Given the description of an element on the screen output the (x, y) to click on. 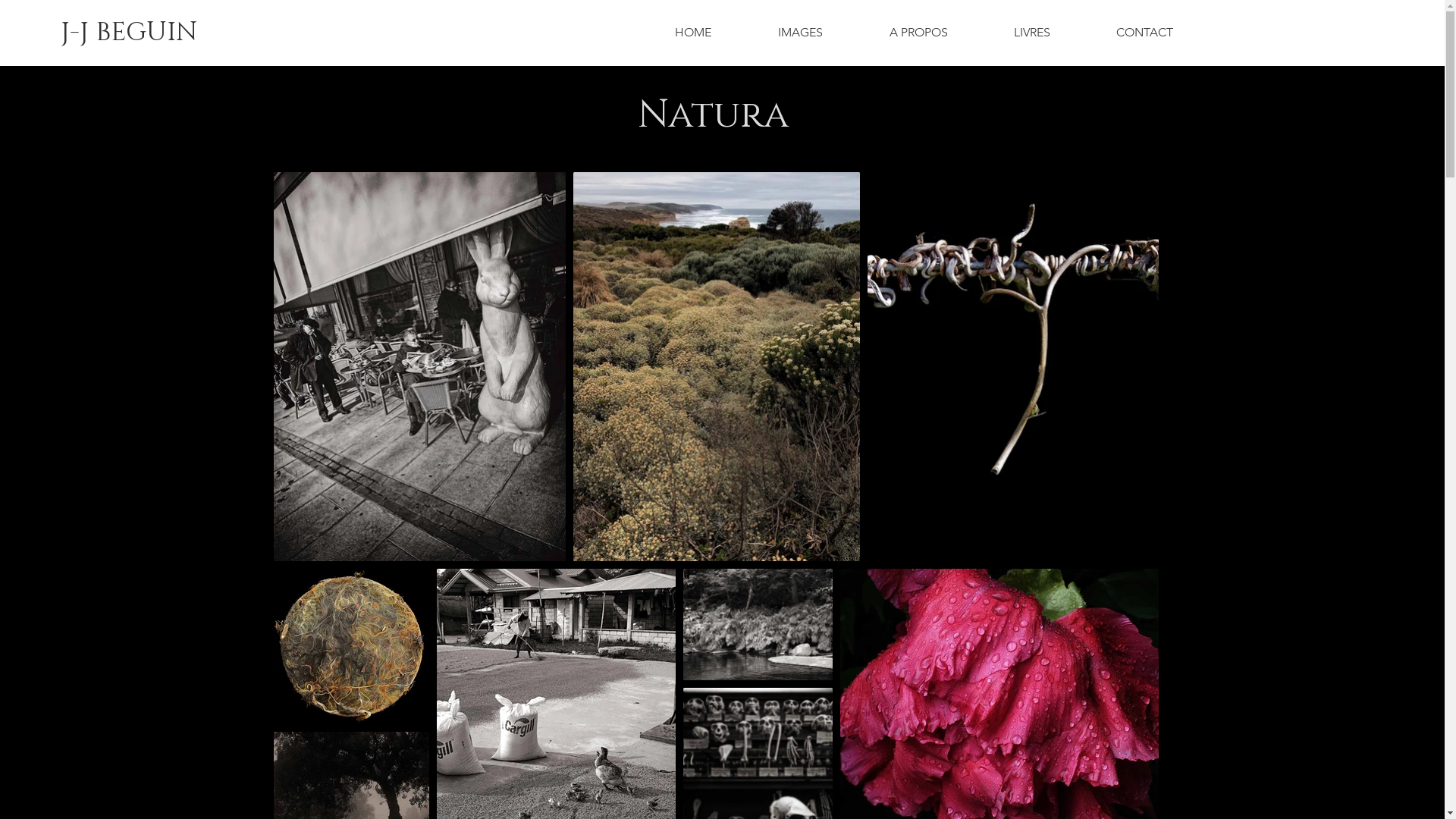
A PROPOS Element type: text (917, 32)
CONTACT Element type: text (1143, 32)
IMAGES Element type: text (800, 32)
HOME Element type: text (692, 32)
LIVRES Element type: text (1032, 32)
J-J BEGUIN Element type: text (128, 32)
